Given the description of an element on the screen output the (x, y) to click on. 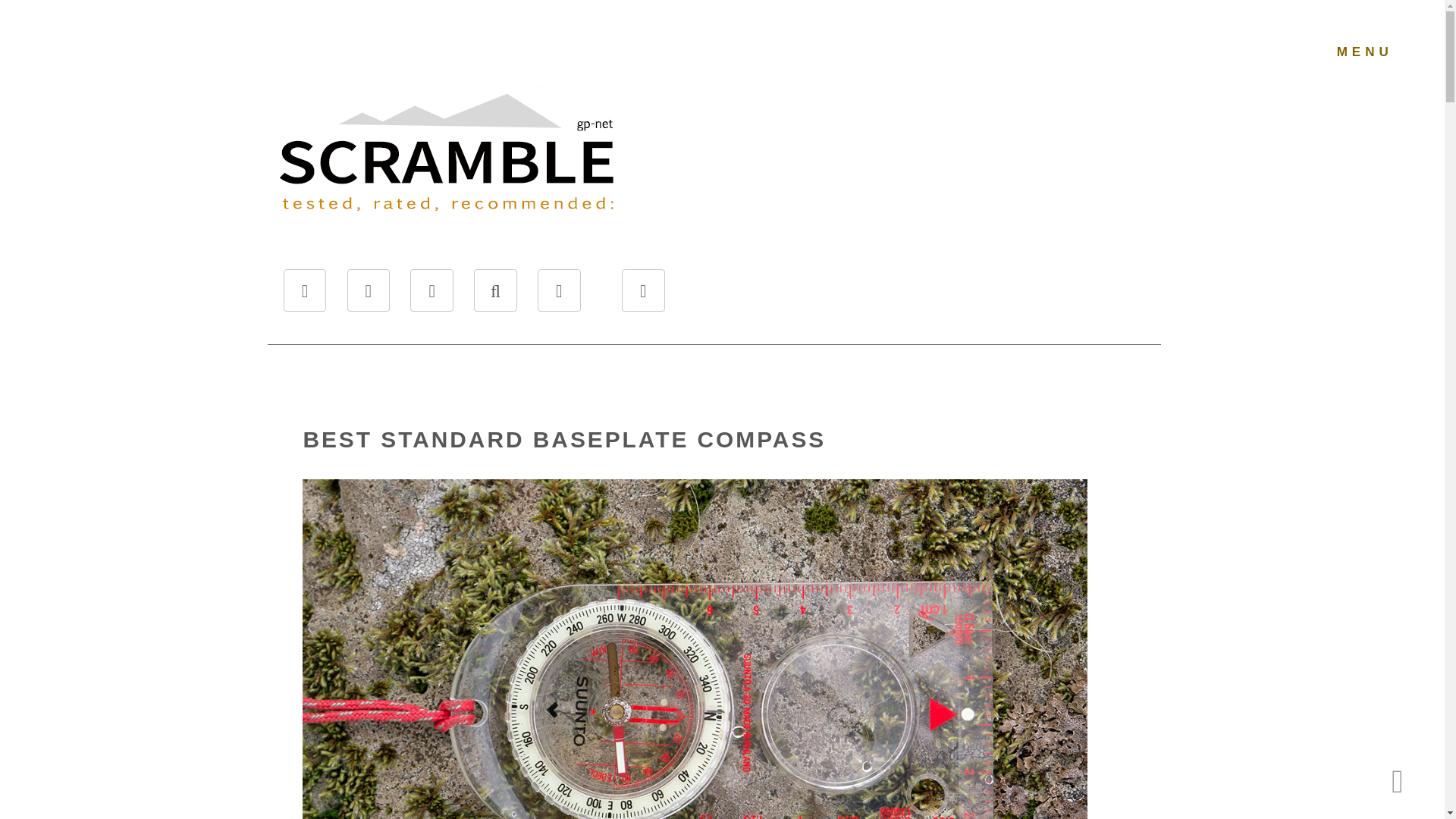
BEST STANDARD BASEPLATE COMPASS (563, 438)
MENU (1364, 51)
